Given the description of an element on the screen output the (x, y) to click on. 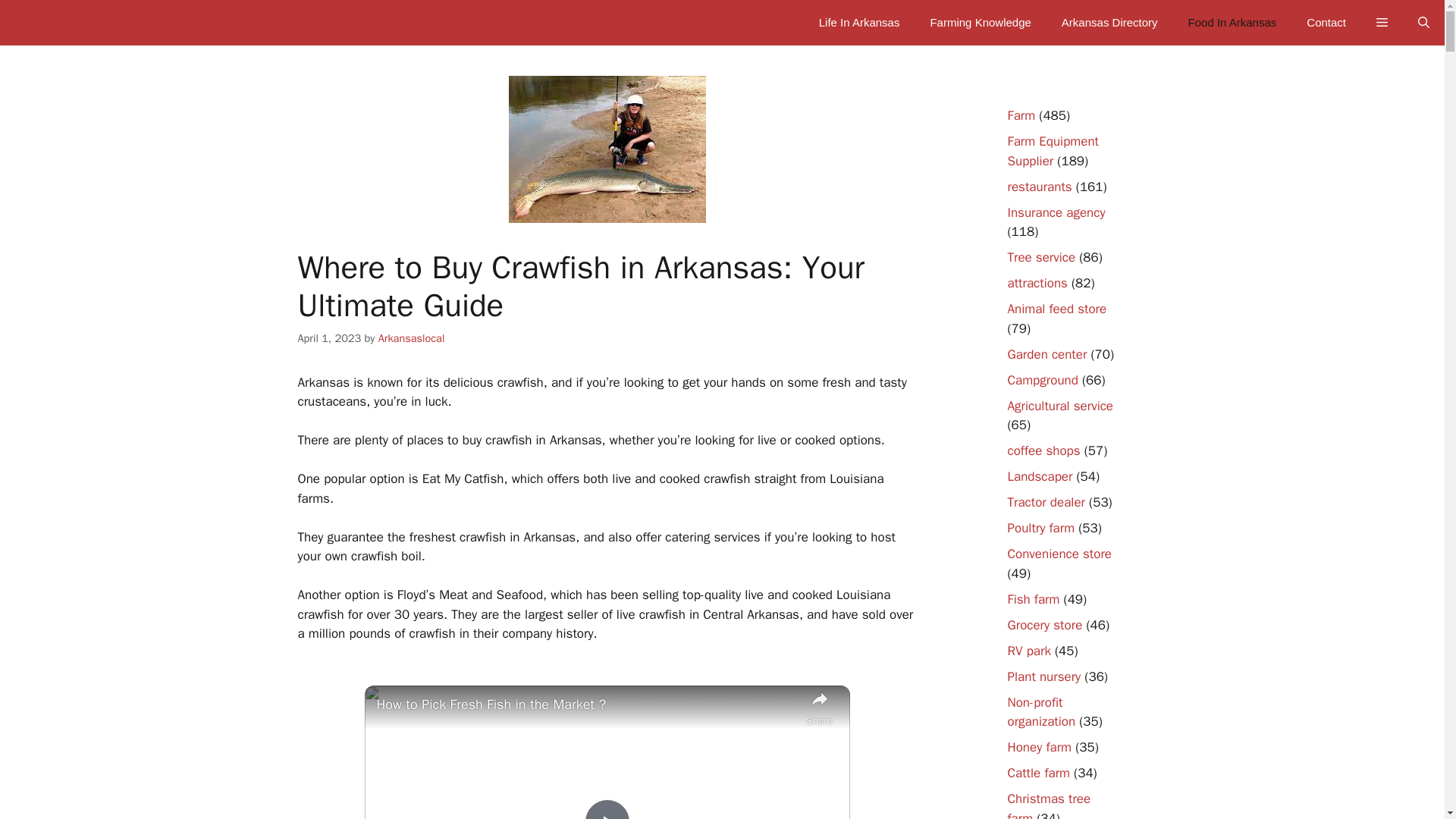
Farm (1021, 115)
Arkansaslocal (411, 337)
Contact (1326, 22)
View all posts by Arkansaslocal (411, 337)
How to Pick Fresh Fish in the Market ? (586, 704)
Farm Equipment Supplier (1053, 150)
Life In Arkansas (859, 22)
Farming Knowledge (979, 22)
Play Video (605, 809)
Arkansas Directory (1109, 22)
Play Video (605, 809)
Food In Arkansas (1232, 22)
